Given the description of an element on the screen output the (x, y) to click on. 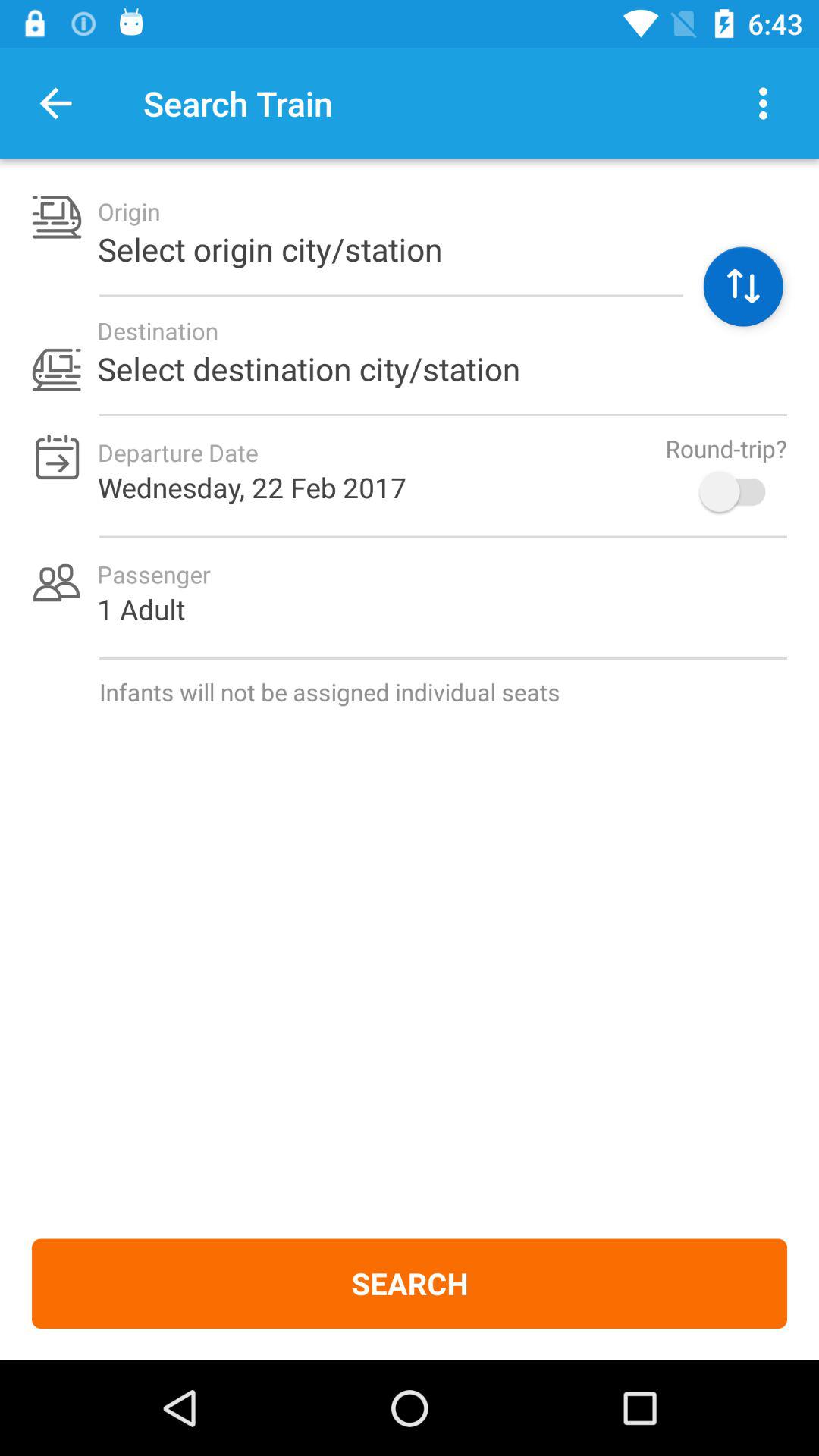
tap the item next to the wednesday 22 feb item (739, 491)
